Given the description of an element on the screen output the (x, y) to click on. 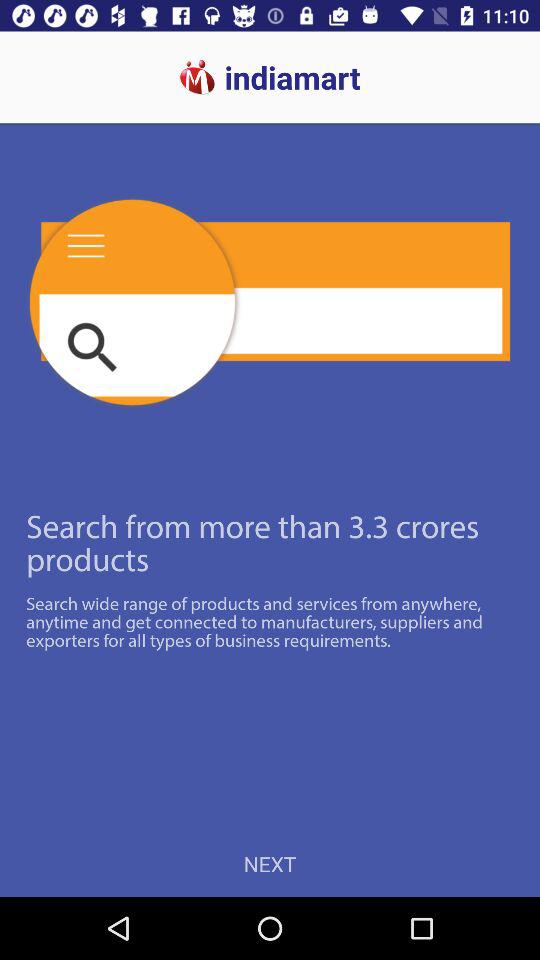
choose the icon below the search wide range icon (270, 863)
